Given the description of an element on the screen output the (x, y) to click on. 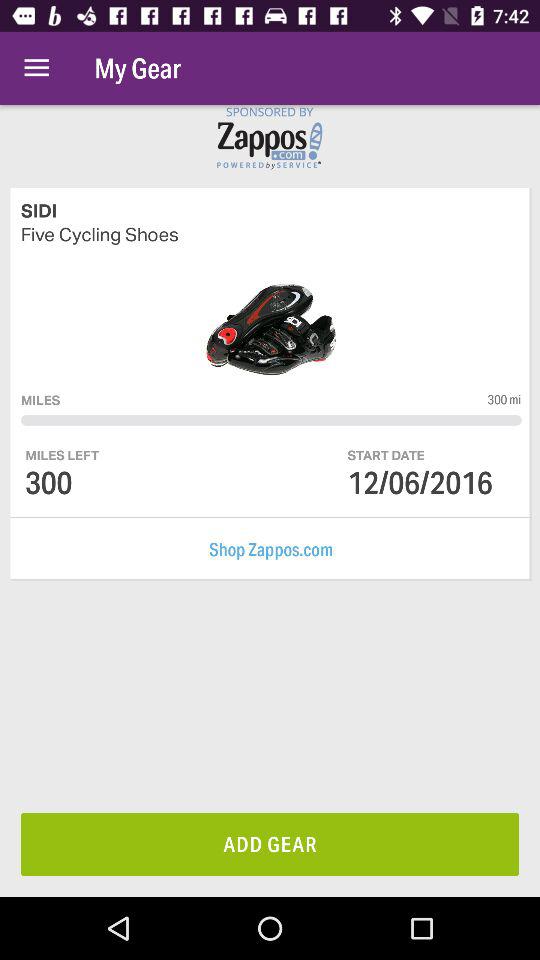
turn off icon below five cycling shoes (504, 399)
